Given the description of an element on the screen output the (x, y) to click on. 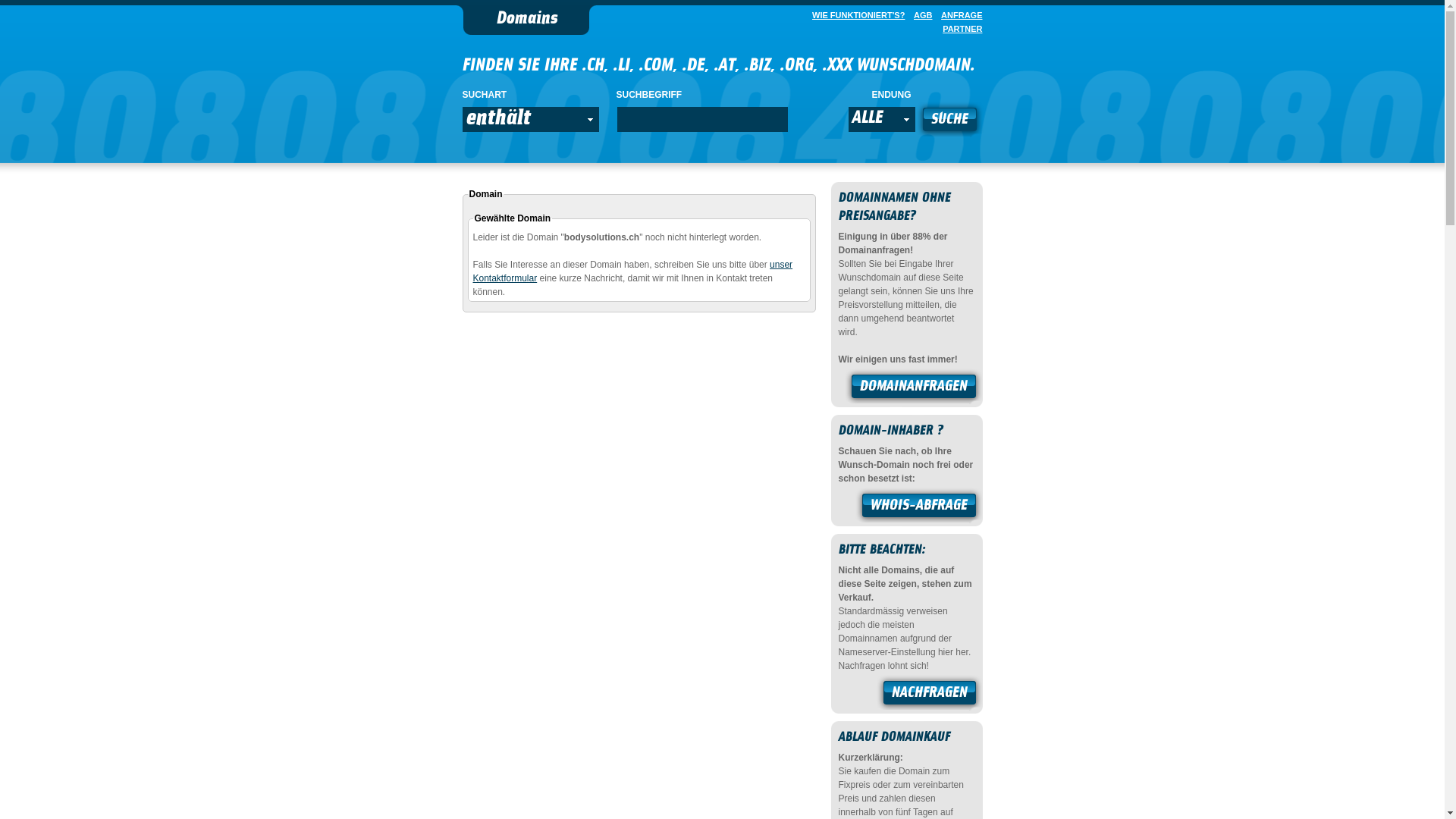
Domains Element type: text (526, 19)
WHOIS-ABFRAGE Element type: text (918, 507)
DOMAINANFRAGEN Element type: text (913, 387)
unser Kontaktformular Element type: text (633, 271)
NACHFRAGEN Element type: text (929, 694)
SUCHE Element type: text (949, 121)
AGB Element type: text (919, 14)
PARTNER Element type: text (959, 28)
ANFRAGE Element type: text (958, 14)
WIE FUNKTIONIERT'S? Element type: text (855, 14)
